Given the description of an element on the screen output the (x, y) to click on. 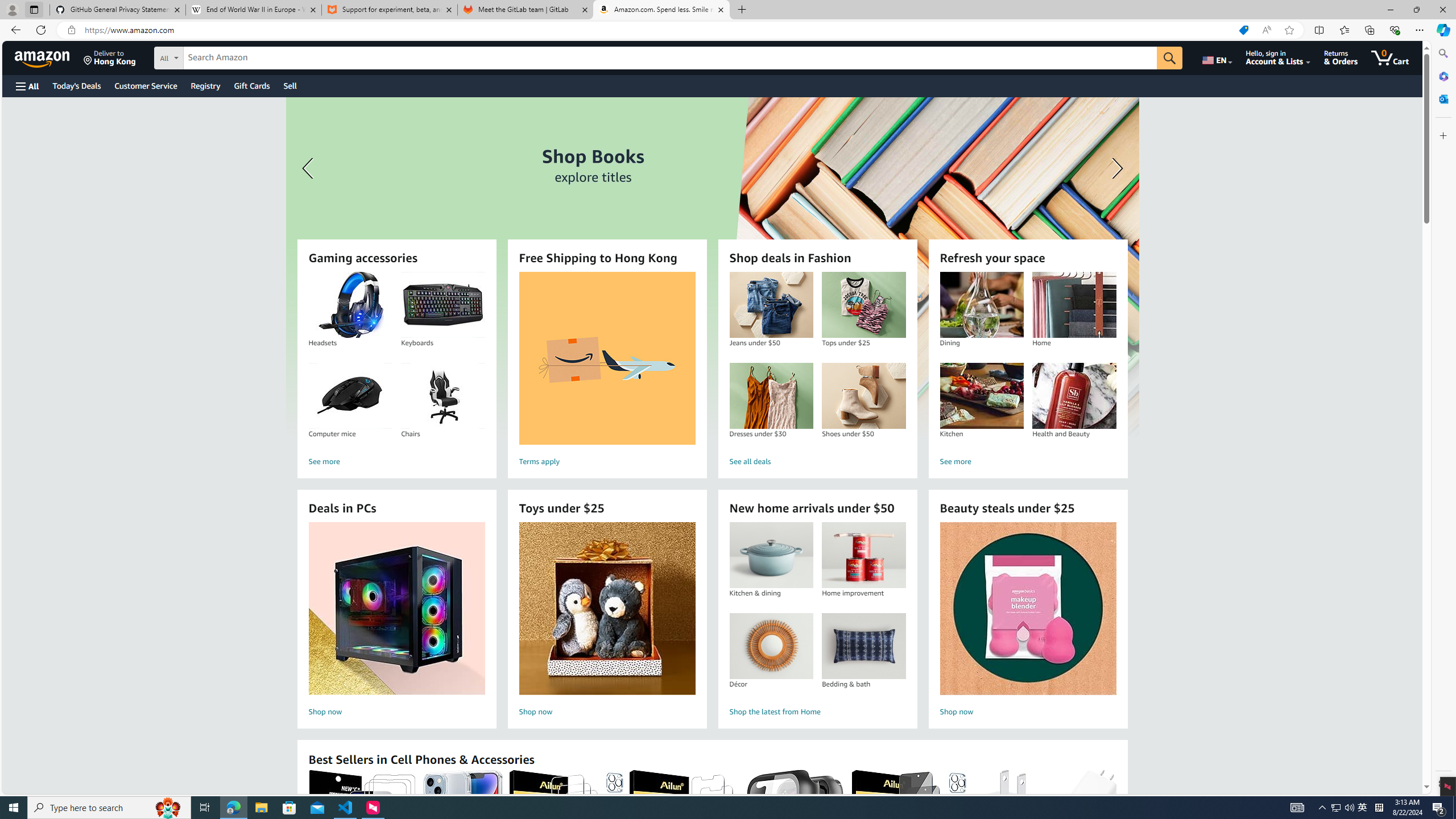
Kitchen (981, 395)
Jeans under $50 (770, 304)
Returns & Orders (1340, 57)
Headsets (350, 304)
Amazon.com. Spend less. Smile more. (660, 9)
Shopping in Microsoft Edge (1243, 29)
GitHub General Privacy Statement - GitHub Docs (117, 9)
Chairs (443, 395)
